Given the description of an element on the screen output the (x, y) to click on. 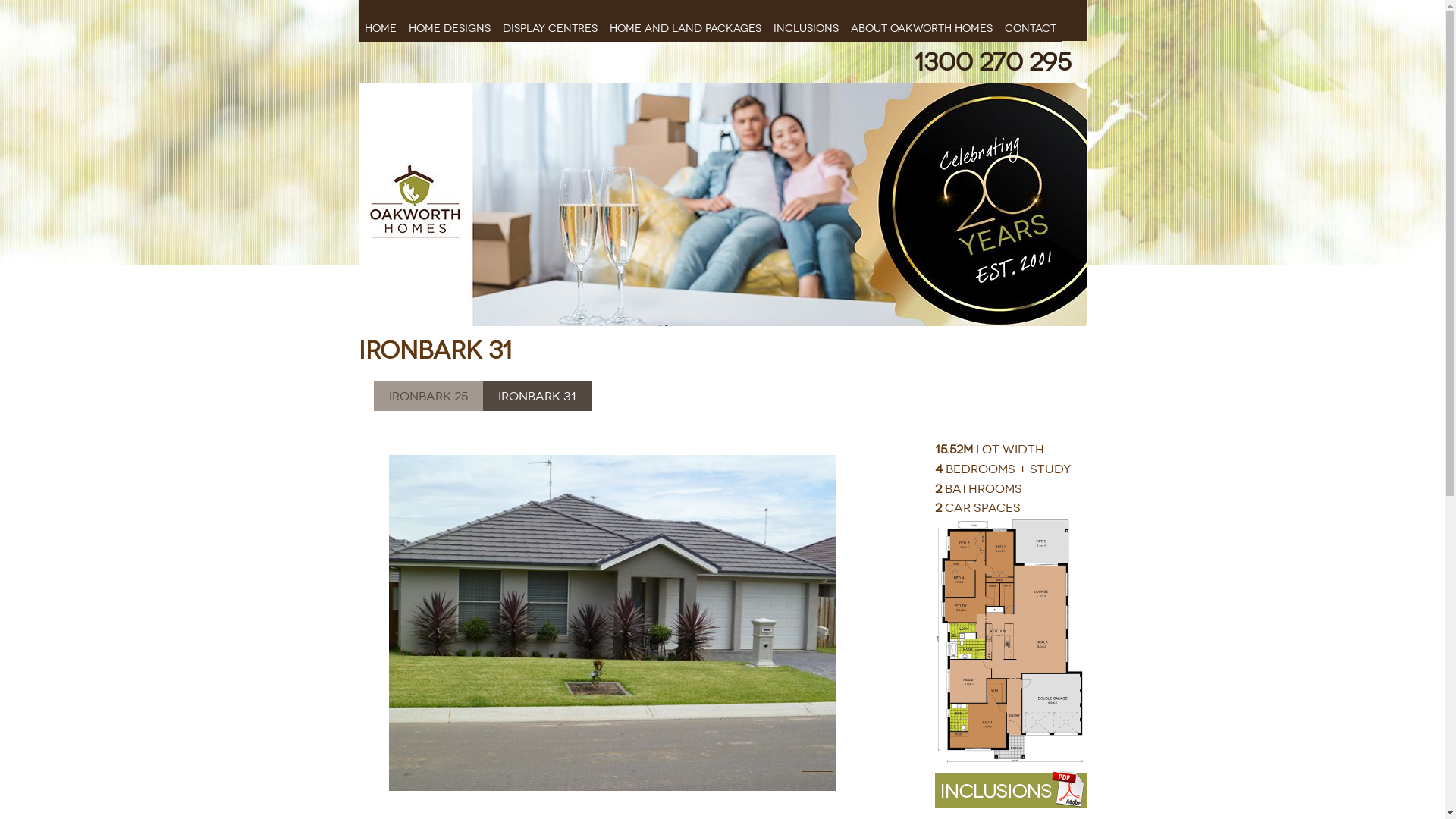
CONTACT Element type: text (1029, 20)
HOME AND LAND PACKAGES Element type: text (685, 20)
ABOUT OAKWORTH HOMES Element type: text (921, 20)
HOME Element type: text (379, 20)
Ironbark 25 Element type: text (427, 396)
Ironbark ModWEB Element type: hover (611, 622)
Ironbark 31 Element type: text (536, 396)
DISPLAY CENTRES Element type: text (548, 20)
HOME DESIGNS Element type: text (448, 20)
1300 270 295 Element type: text (991, 62)
INCLUSIONS Element type: text (805, 20)
